Given the description of an element on the screen output the (x, y) to click on. 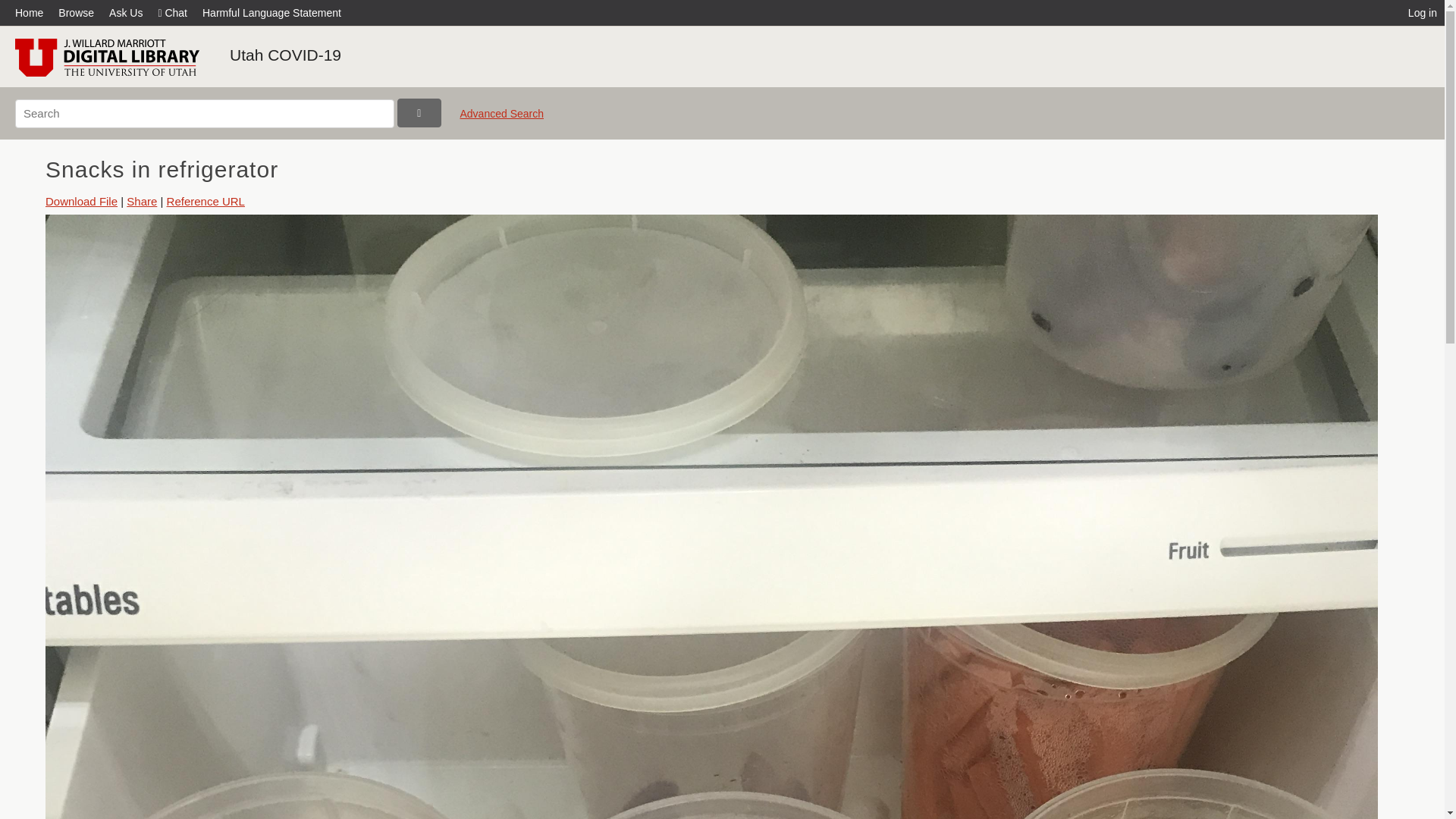
Reference URL (205, 201)
Download - 790.26K (81, 201)
Share (141, 201)
Reference URL (205, 201)
Harmful Language Statement (272, 12)
Chat (172, 12)
Home (32, 12)
Utah COVID-19 (285, 54)
Download File (81, 201)
Browse (75, 12)
Ask Us (125, 12)
Advanced Search (501, 119)
Share (141, 201)
